Given the description of an element on the screen output the (x, y) to click on. 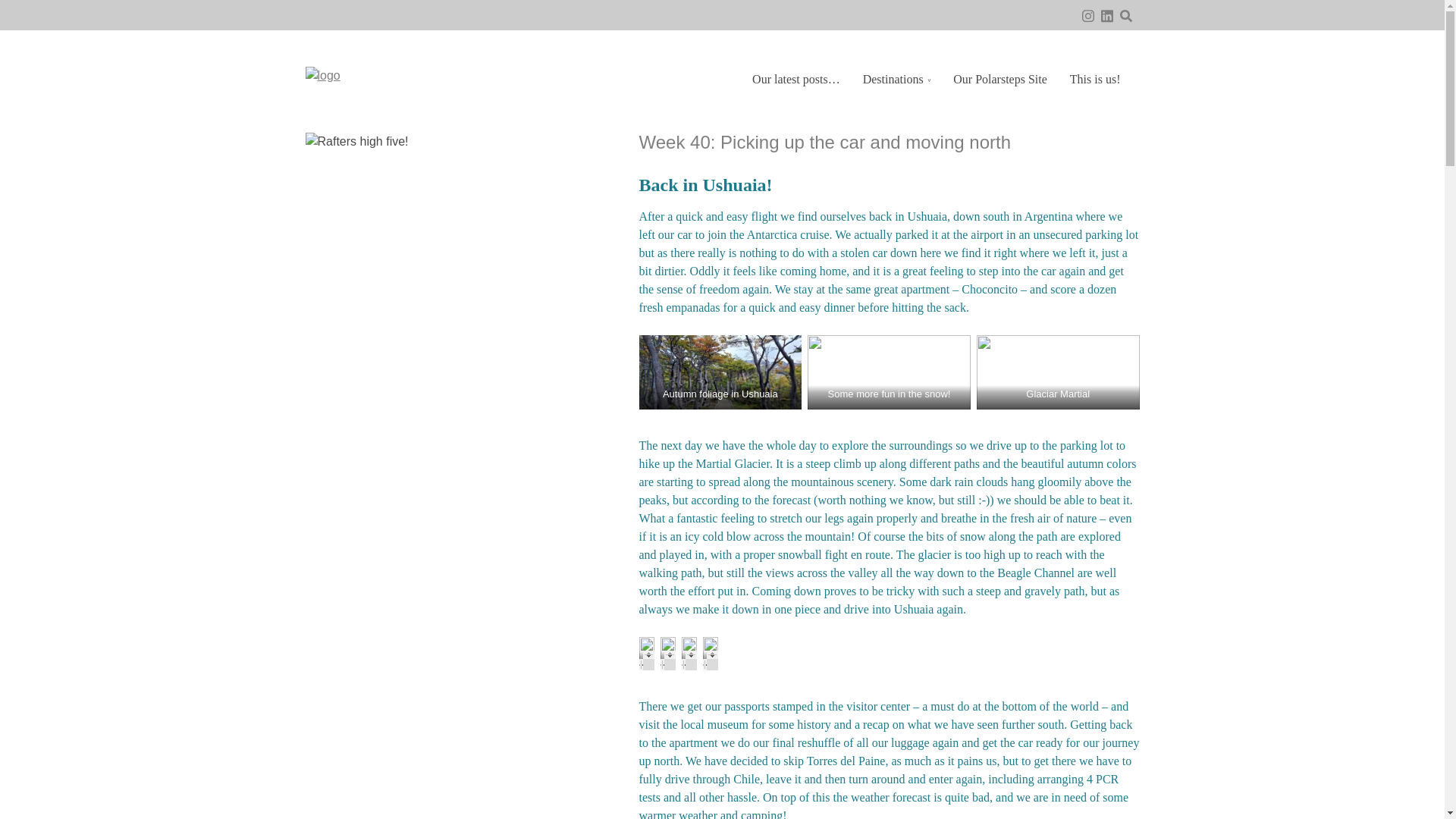
This is us! (1094, 78)
Our Polarsteps Site (1000, 78)
Week 40: Picking up the car and moving north (824, 141)
Week 40: Picking up the car and moving north (824, 141)
Destinations (896, 78)
